Given the description of an element on the screen output the (x, y) to click on. 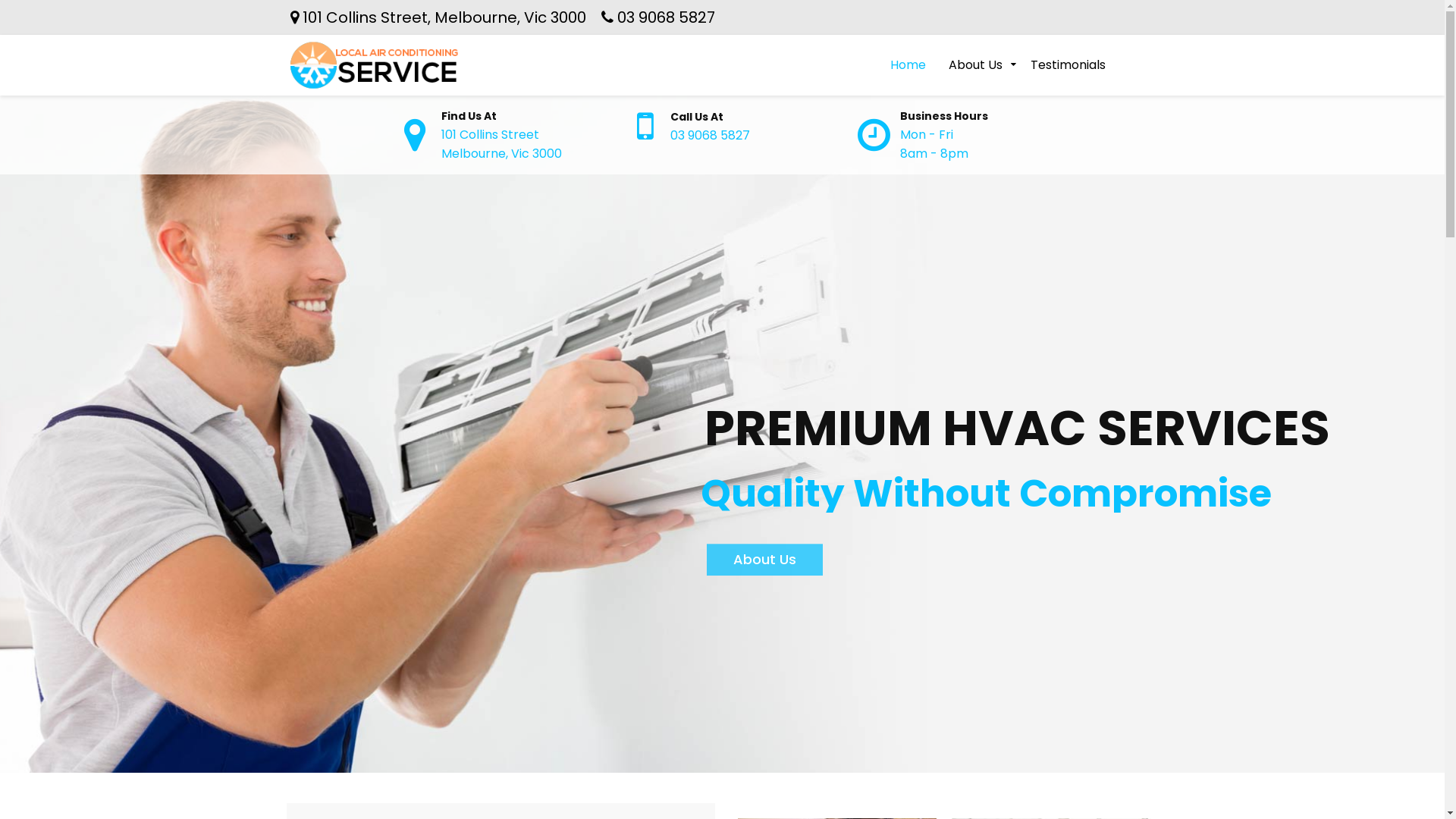
Home Element type: text (907, 64)
Testimonials Element type: text (1068, 64)
03 9068 5827 Element type: text (666, 17)
About Us Element type: text (975, 64)
